Given the description of an element on the screen output the (x, y) to click on. 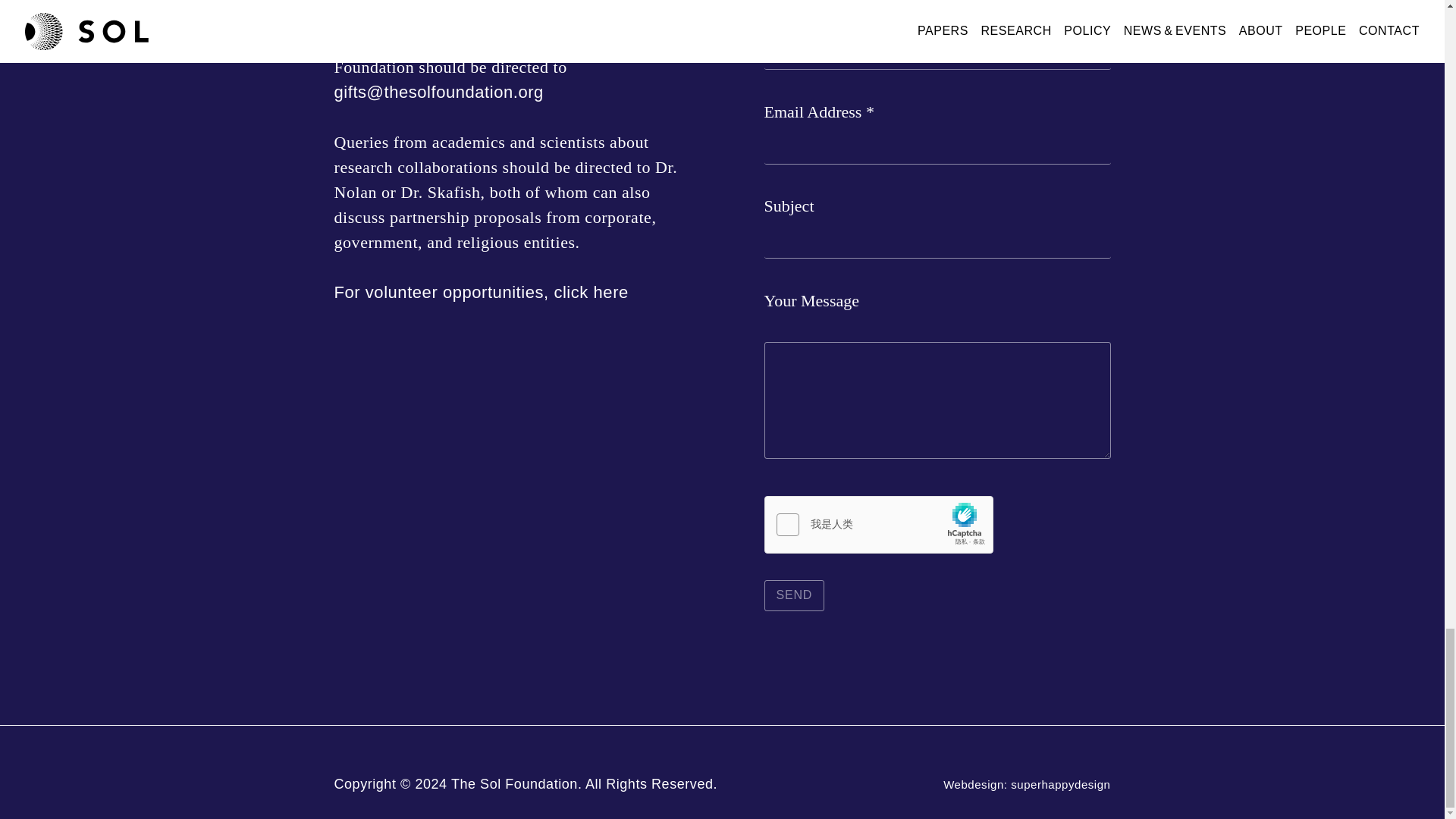
superhappydesign (1059, 784)
SEND (794, 594)
For volunteer opportunities, click here (480, 292)
The Sol Foundation (514, 783)
